Given the description of an element on the screen output the (x, y) to click on. 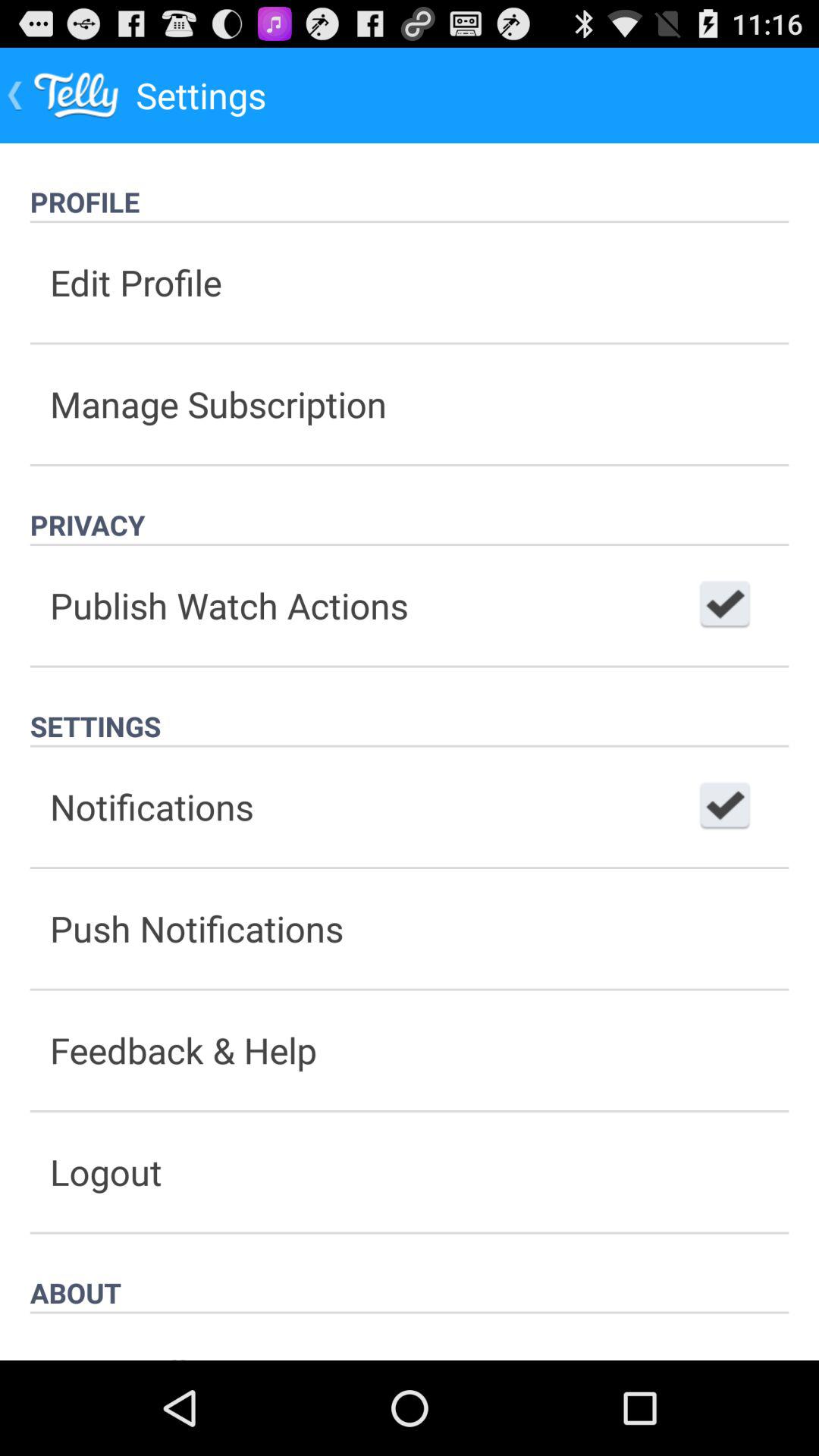
tap the item below profile item (409, 282)
